Given the description of an element on the screen output the (x, y) to click on. 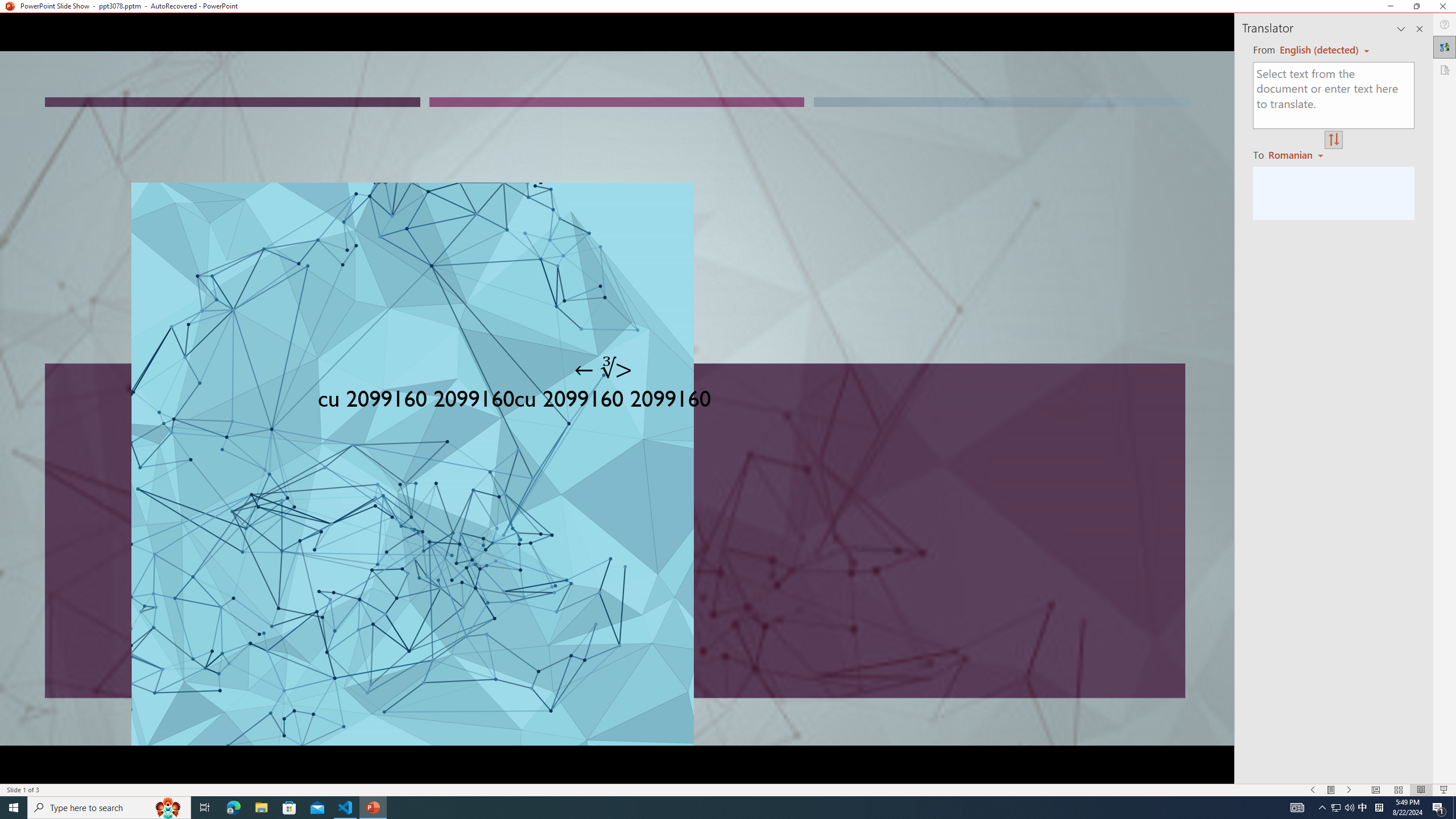
Slide Show Previous On (1313, 790)
